Given the description of an element on the screen output the (x, y) to click on. 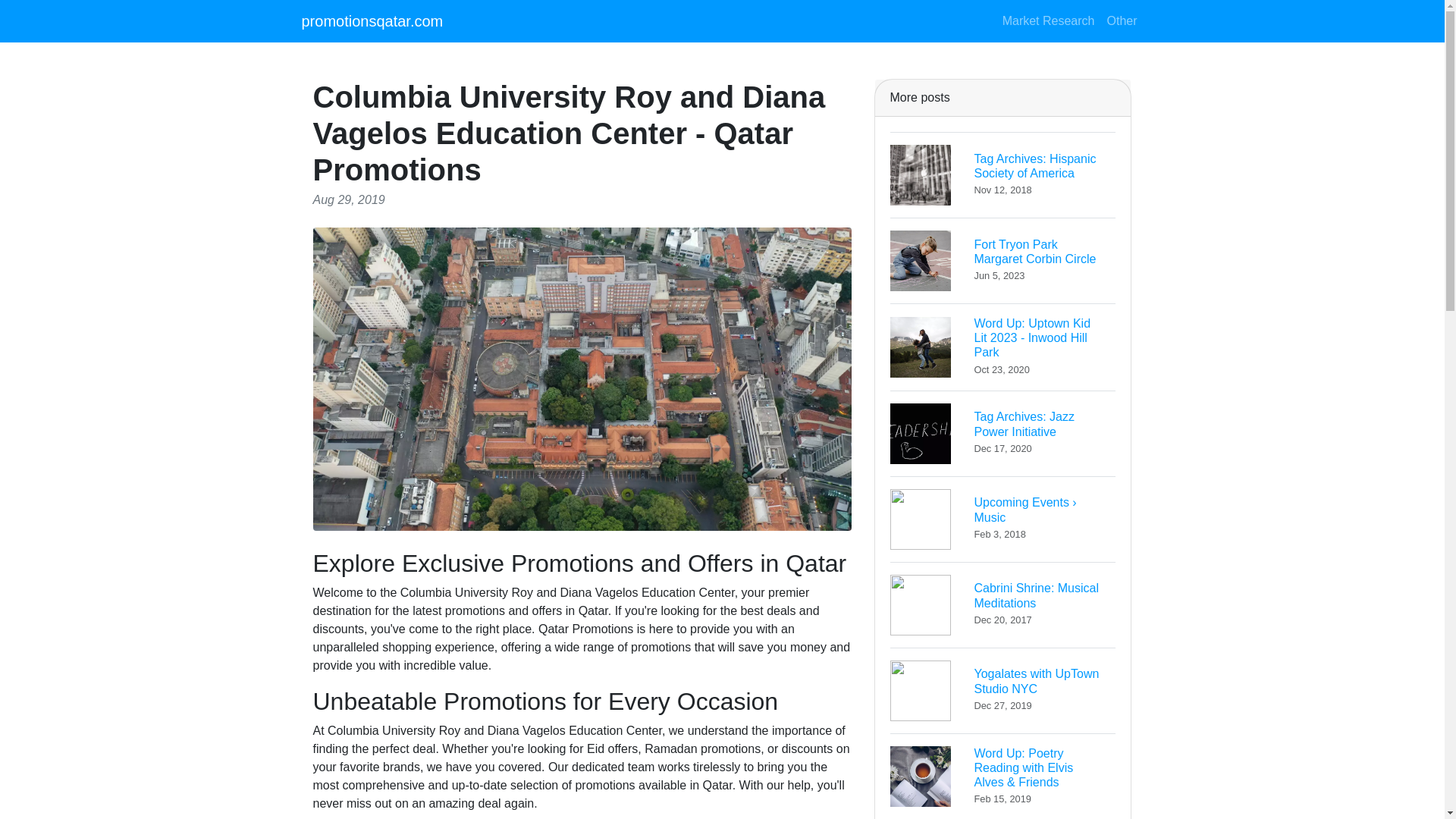
promotionsqatar.com (1002, 174)
Market Research (372, 20)
Other (1002, 432)
